Given the description of an element on the screen output the (x, y) to click on. 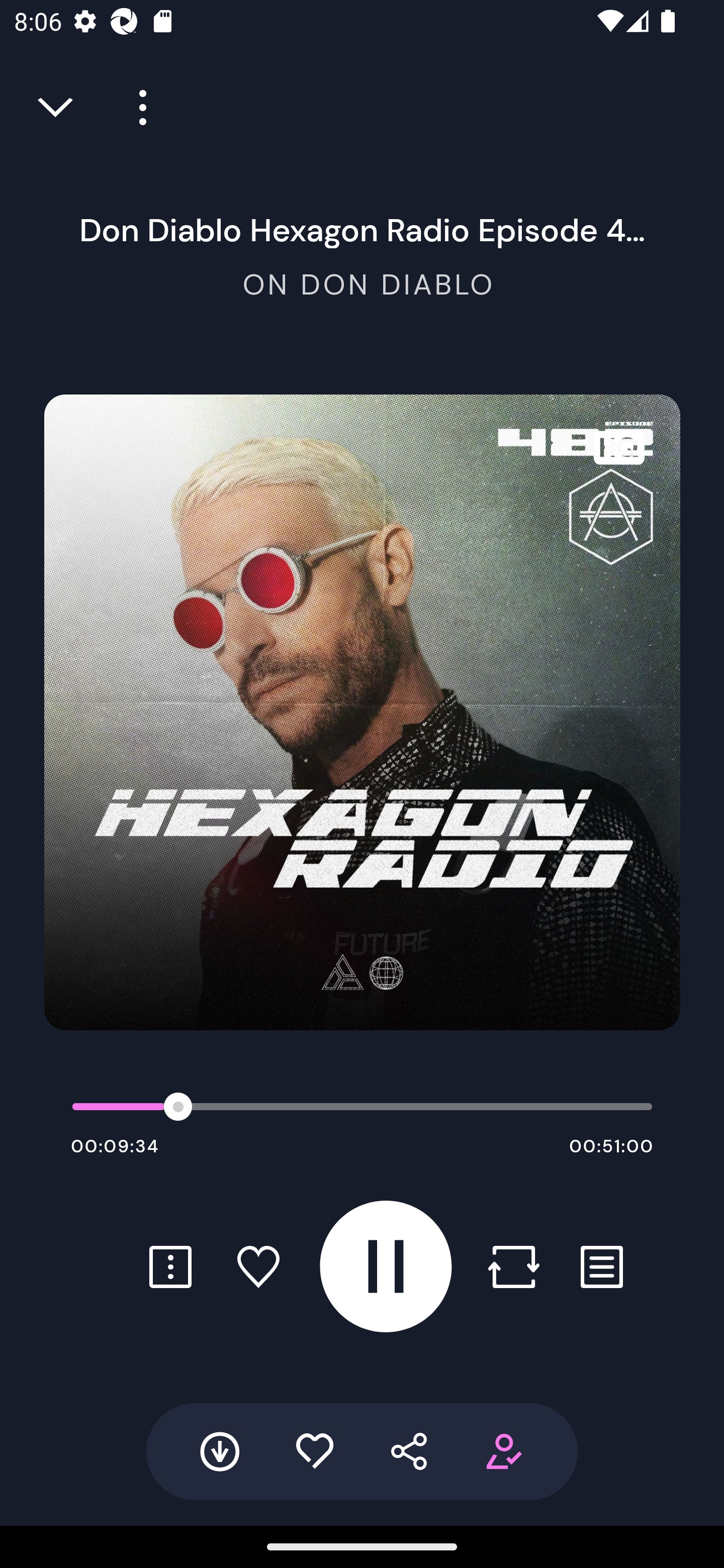
Close full player (57, 107)
Player more options button (136, 107)
Repost button (513, 1266)
